Given the description of an element on the screen output the (x, y) to click on. 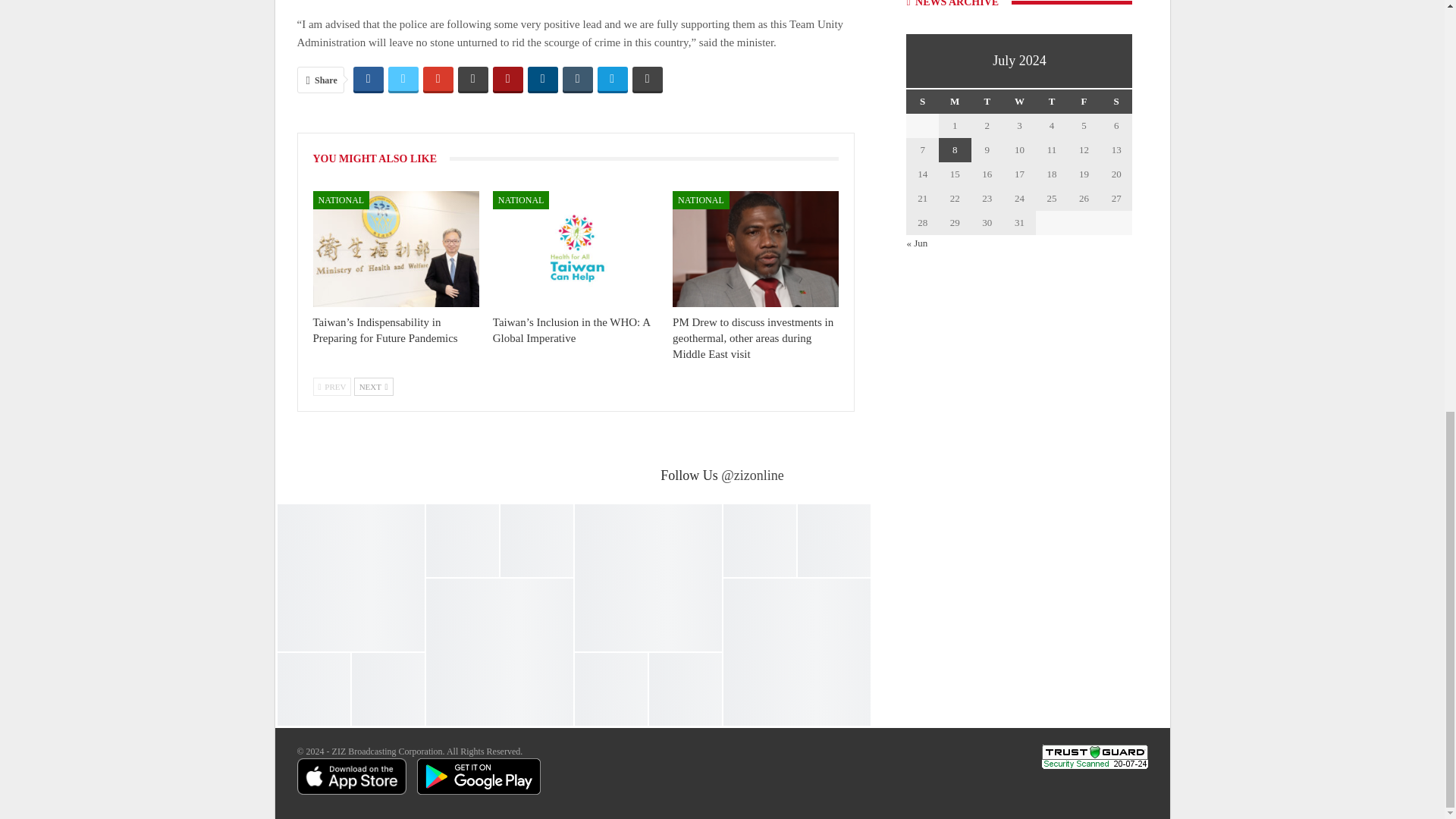
Previous (331, 386)
Wednesday (1019, 101)
Sunday (922, 101)
Monday (955, 101)
Tuesday (987, 101)
Next (373, 386)
Thursday (1051, 101)
